Given the description of an element on the screen output the (x, y) to click on. 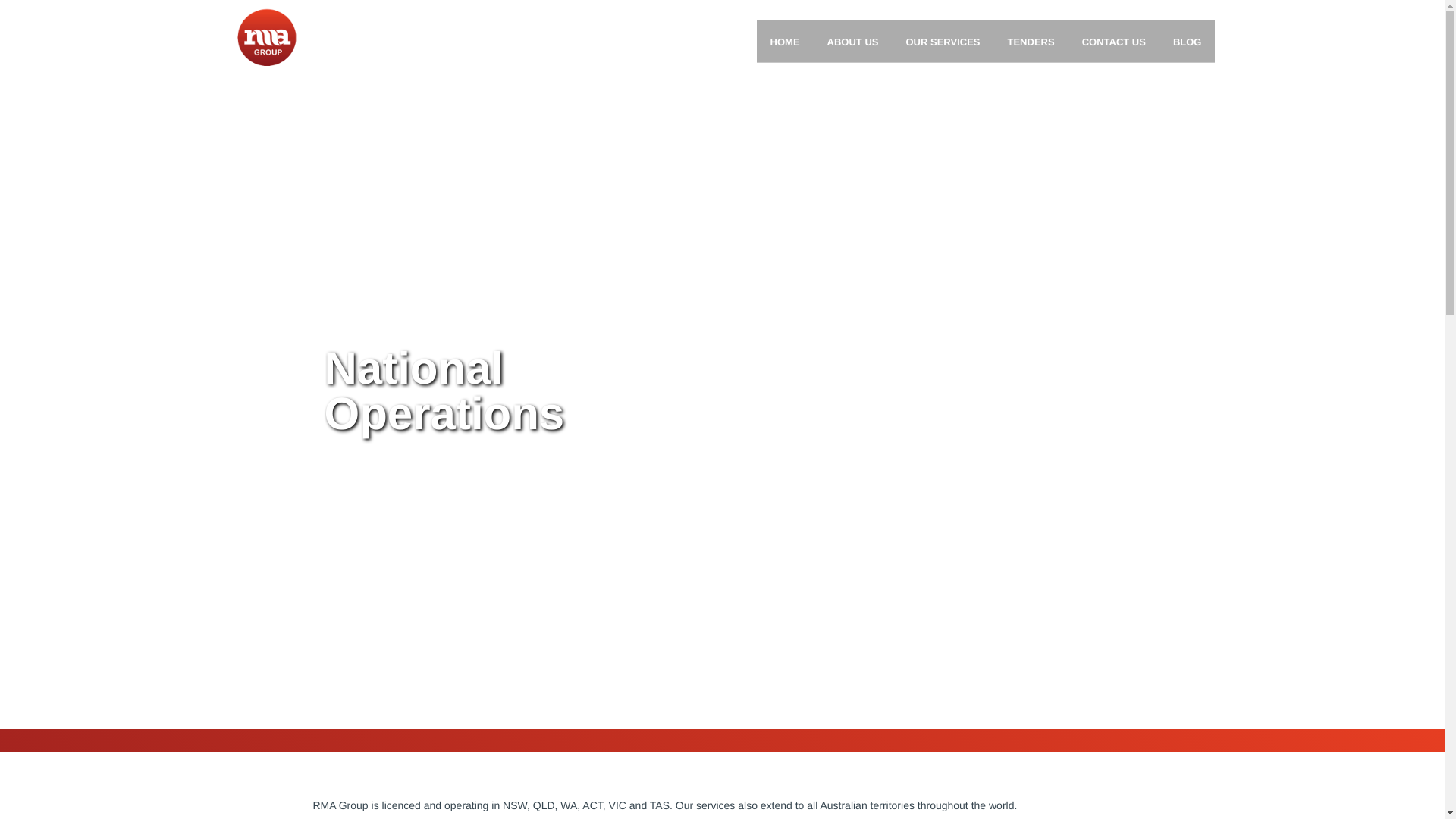
CONTACT US (1113, 41)
OUR SERVICES (941, 41)
ABOUT US (852, 41)
BLOG (1186, 41)
TENDERS (1029, 41)
HOME (785, 41)
